Given the description of an element on the screen output the (x, y) to click on. 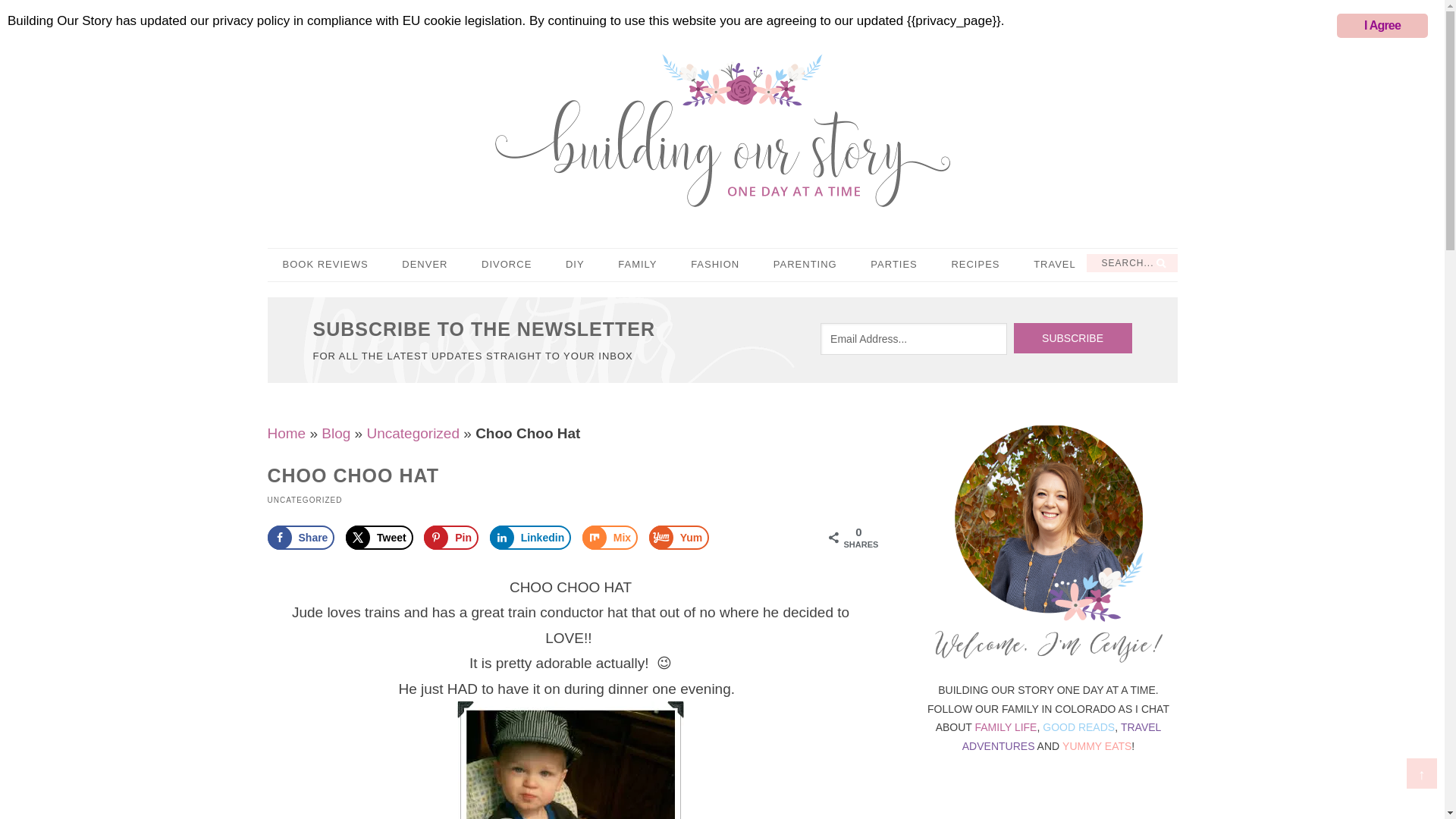
RECIPES (975, 264)
FASHION (714, 264)
DENVER (425, 264)
MEET CENSIE (392, 15)
BUILDING OUR STORY (722, 130)
Share on X (379, 537)
Subscribe (1072, 337)
BOOK REVIEWS (324, 264)
HOME (300, 15)
Save to Pinterest (451, 537)
